Given the description of an element on the screen output the (x, y) to click on. 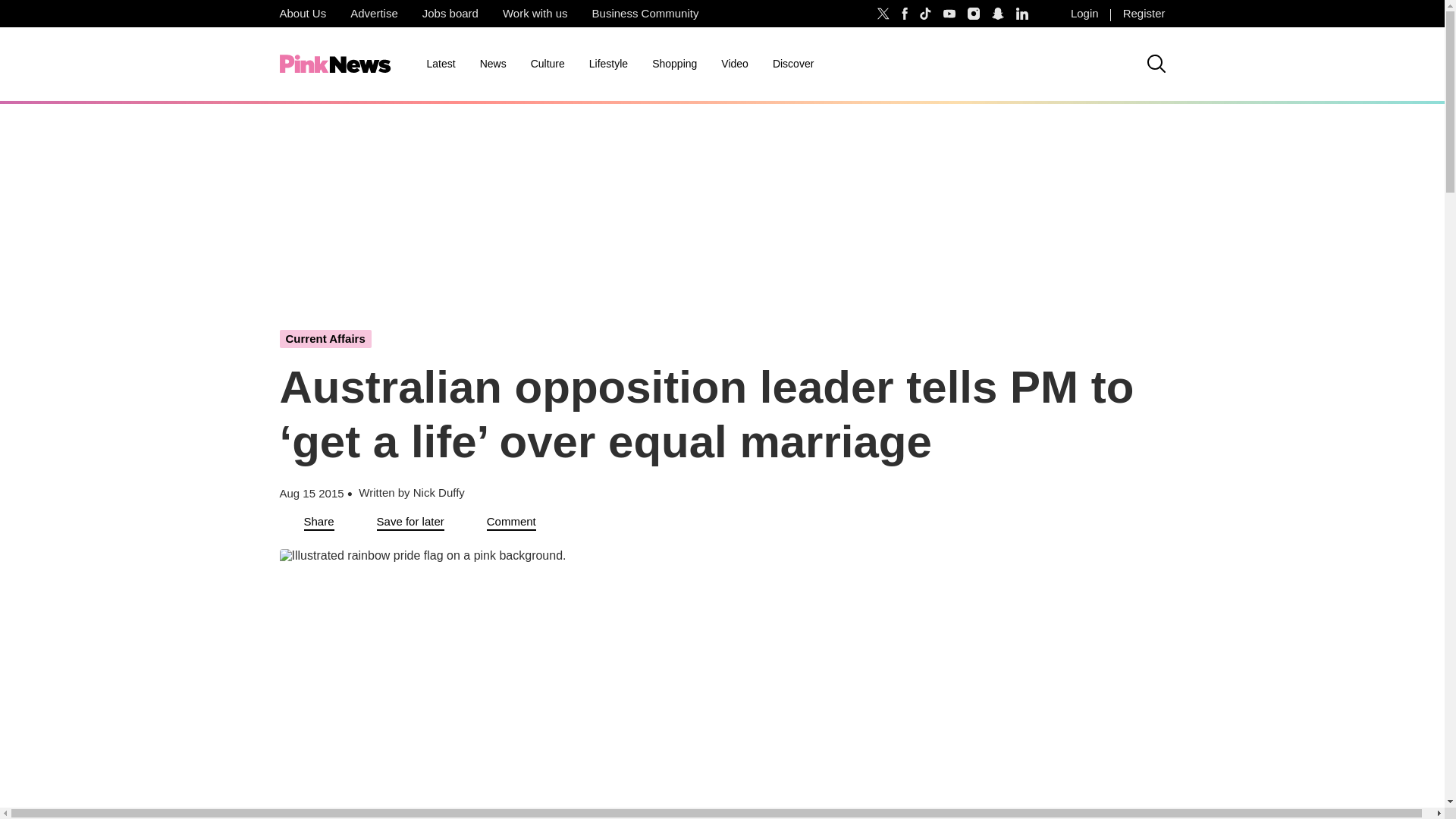
Latest (440, 63)
Register (1143, 13)
Follow PinkNews on LinkedIn (1021, 13)
Jobs board (450, 13)
Advertise (373, 13)
Login (1084, 13)
Work with us (534, 13)
About Us (301, 13)
News (493, 63)
Lifestyle (608, 63)
Culture (547, 63)
Business Community (645, 13)
